Given the description of an element on the screen output the (x, y) to click on. 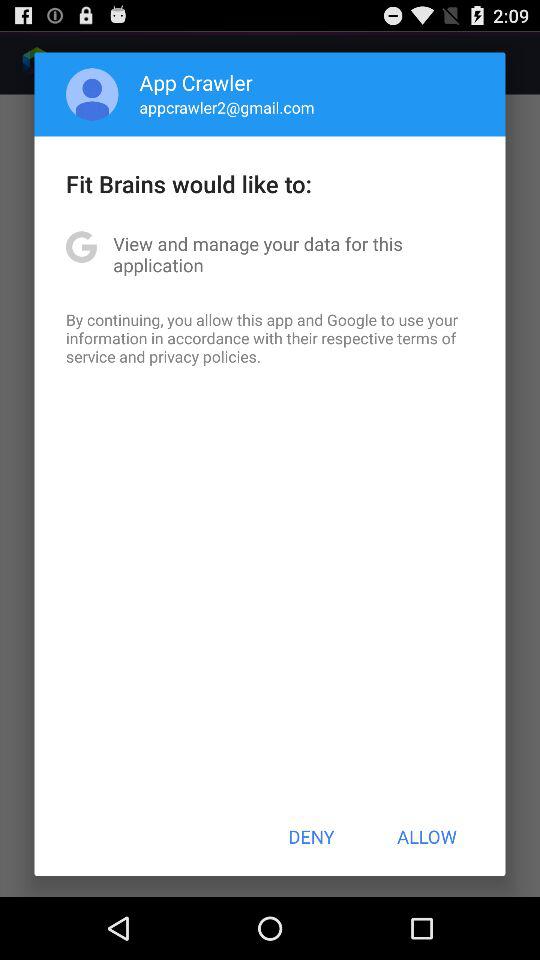
choose app above the fit brains would app (226, 107)
